Given the description of an element on the screen output the (x, y) to click on. 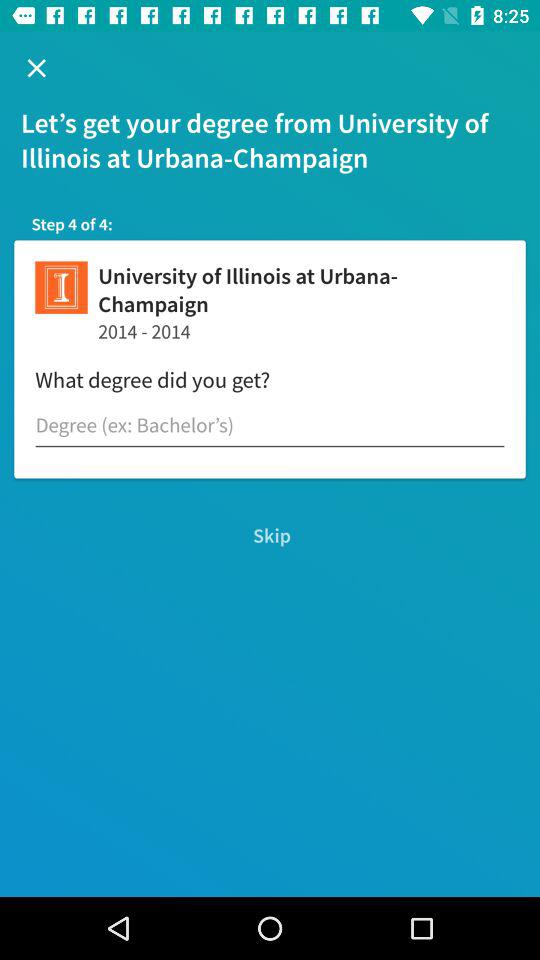
select skip icon (269, 535)
